Given the description of an element on the screen output the (x, y) to click on. 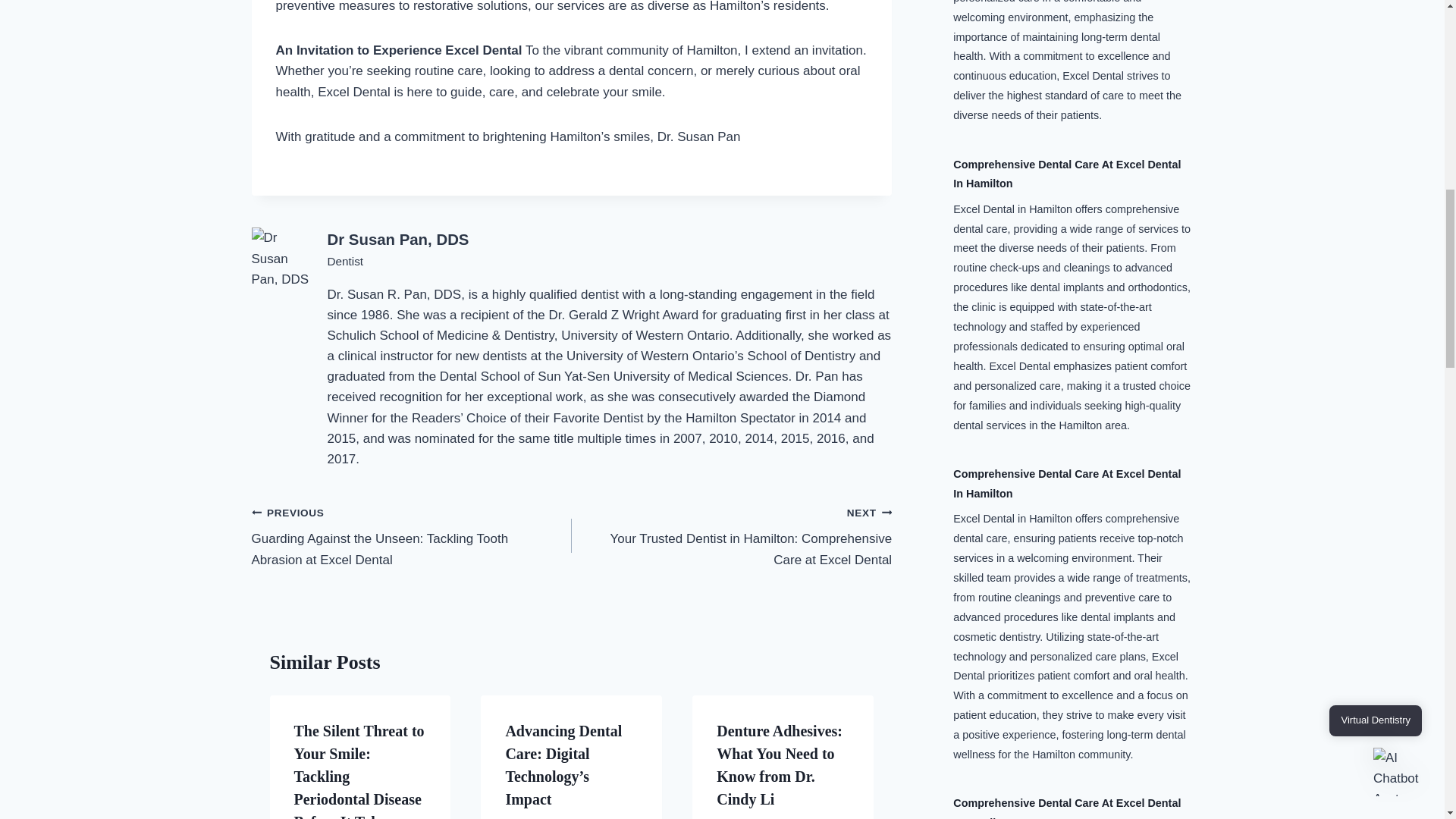
Posts by Dr Susan Pan, DDS (397, 239)
